Given the description of an element on the screen output the (x, y) to click on. 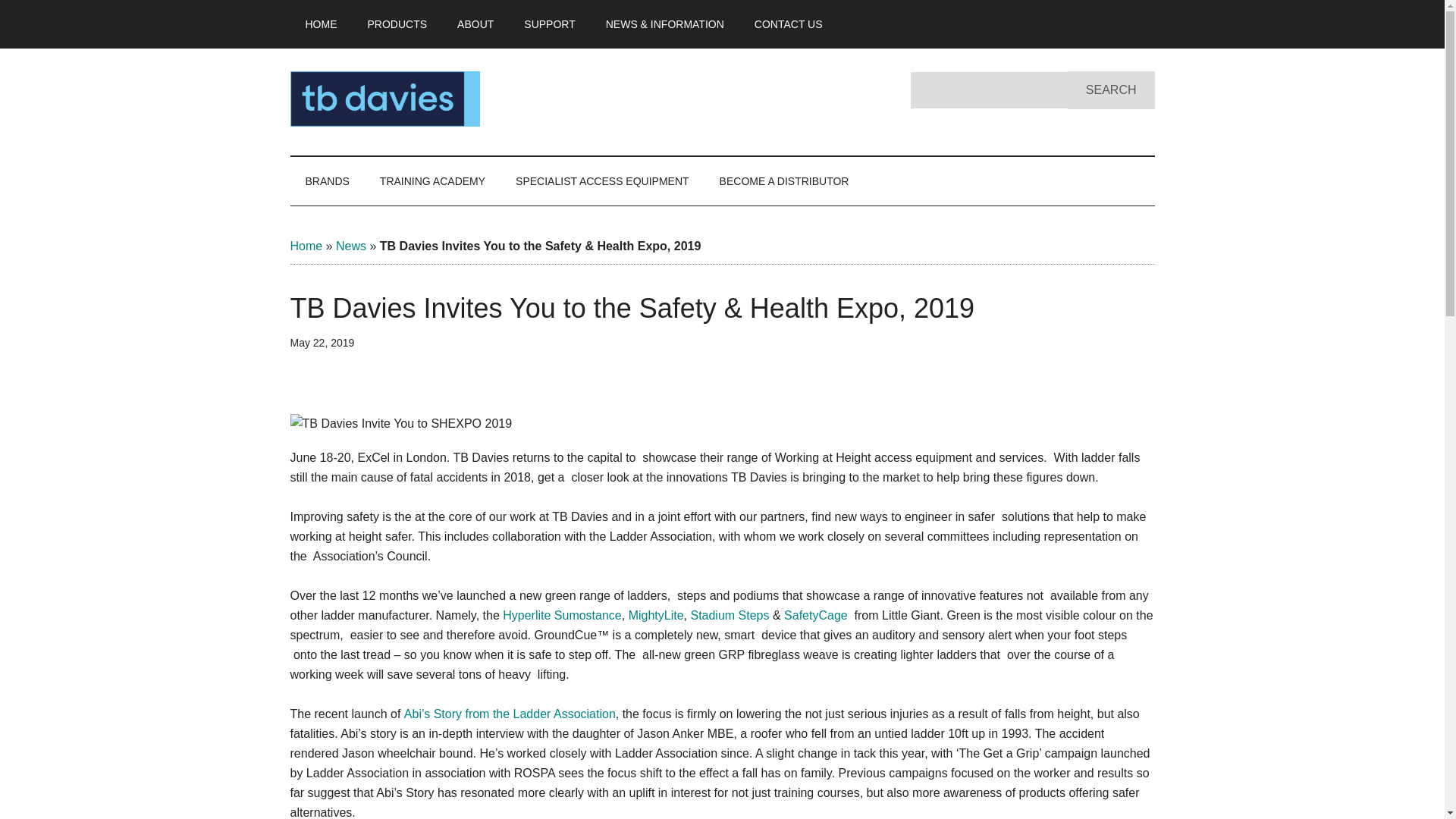
HOME (320, 24)
ABOUT (475, 24)
SUPPORT (548, 24)
PRODUCTS (397, 24)
